Given the description of an element on the screen output the (x, y) to click on. 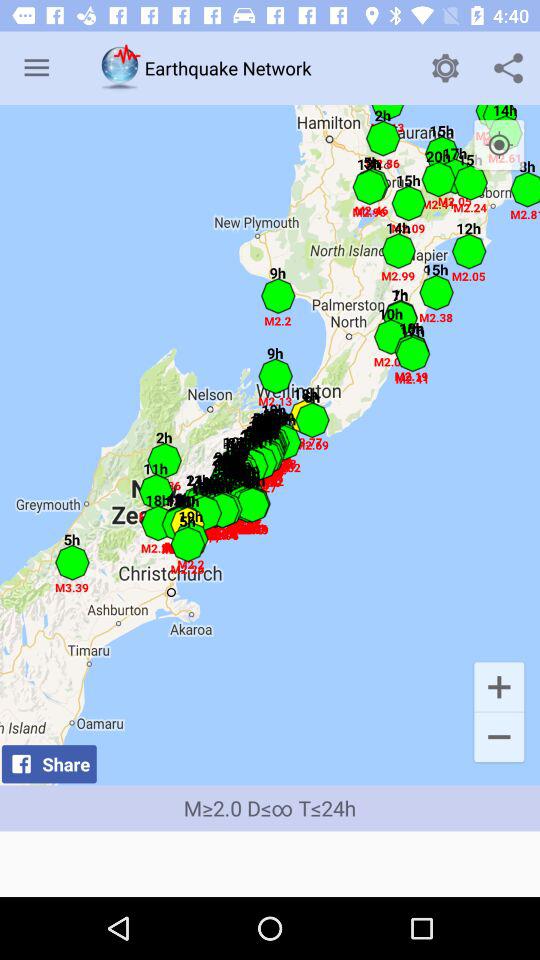
select the icon above m 2 0 item (498, 738)
